Given the description of an element on the screen output the (x, y) to click on. 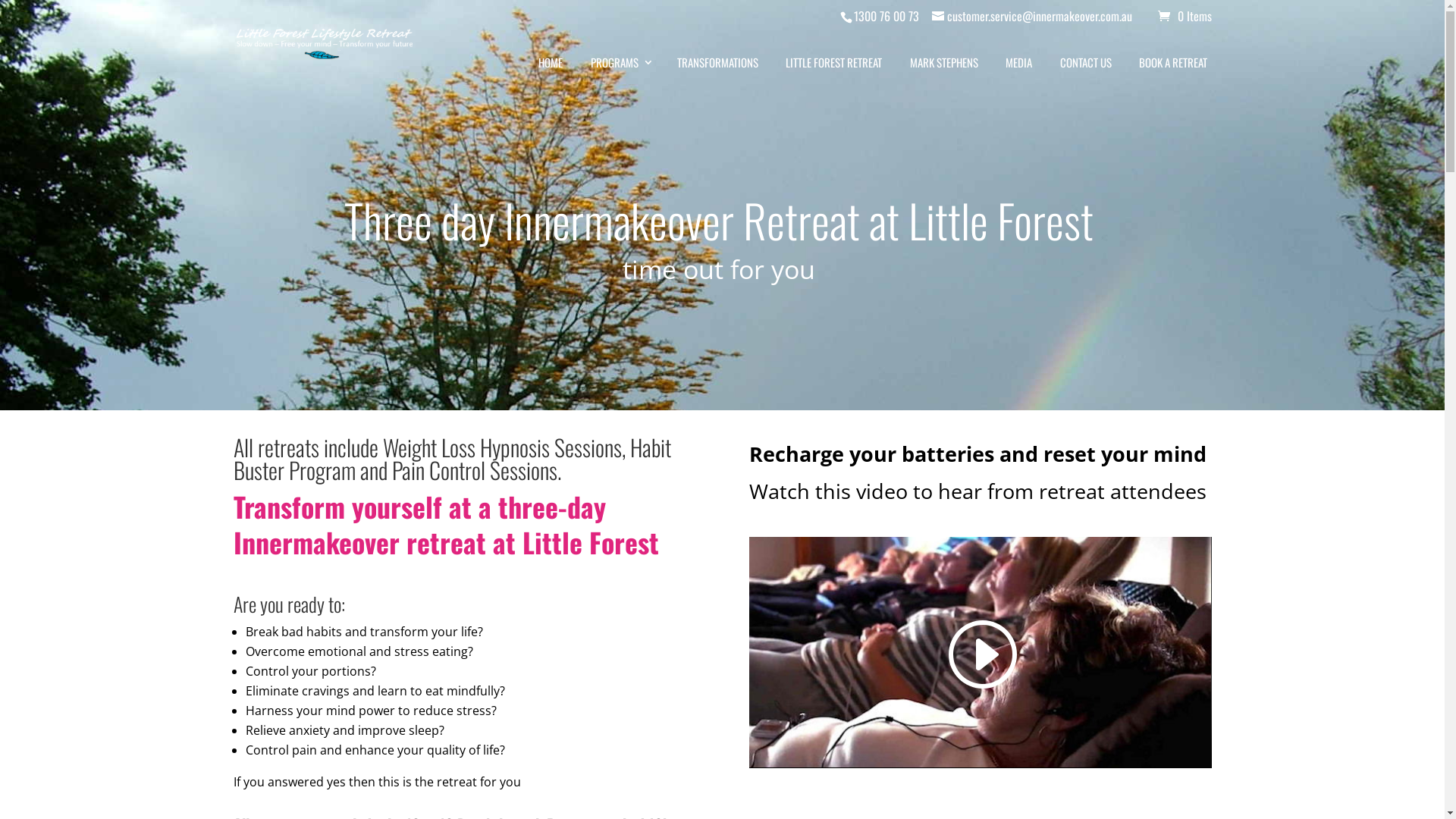
MARK STEPHENS Element type: text (943, 62)
MEDIA Element type: text (1018, 62)
LITTLE FOREST RETREAT Element type: text (833, 62)
BOOK A RETREAT Element type: text (1173, 62)
PROGRAMS Element type: text (619, 62)
CONTACT US Element type: text (1085, 62)
TRANSFORMATIONS Element type: text (717, 62)
0 Items Element type: text (1184, 15)
HOME Element type: text (550, 62)
customer.service@innermakeover.com.au Element type: text (1031, 15)
